Given the description of an element on the screen output the (x, y) to click on. 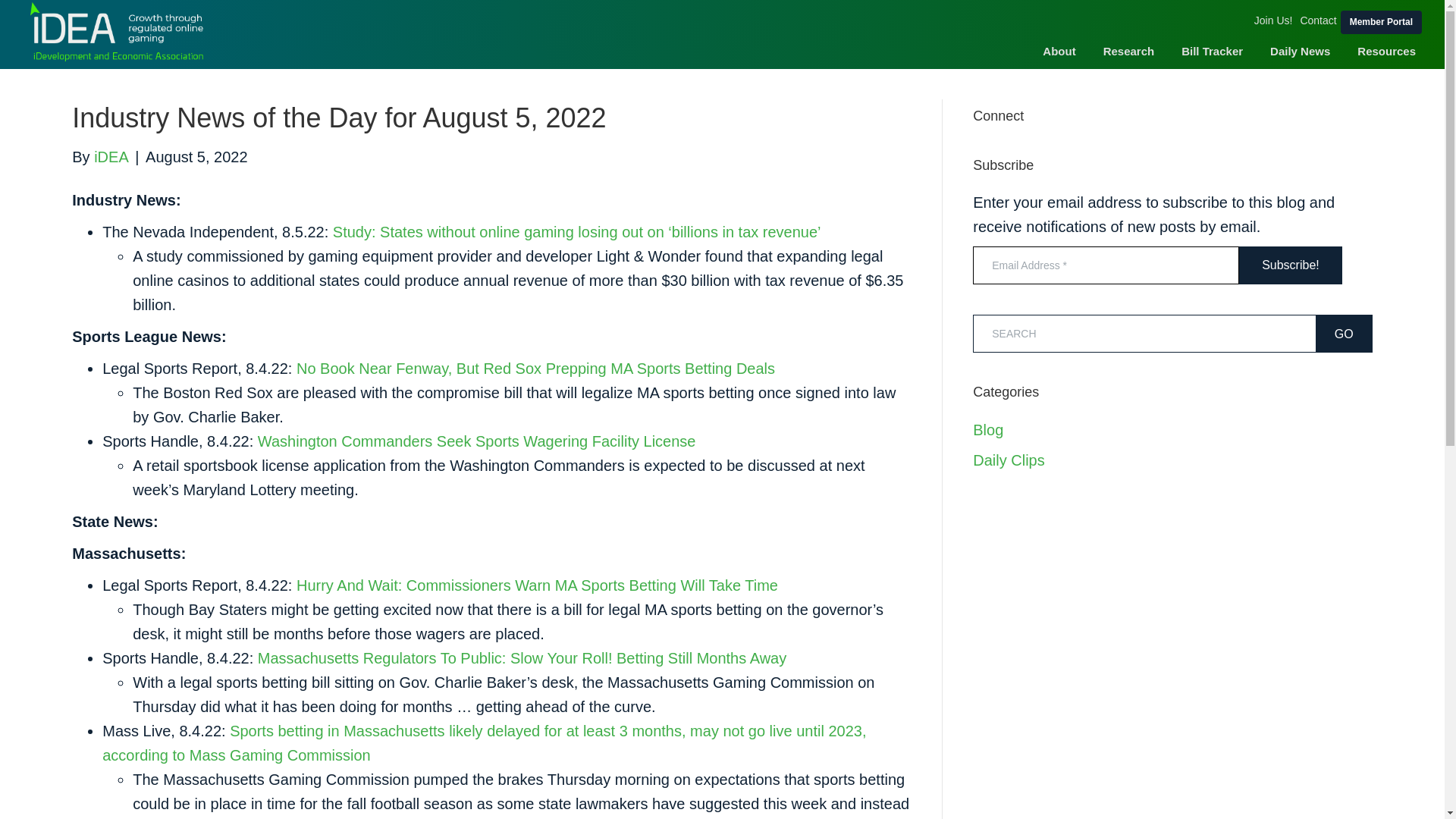
Contact (1317, 20)
Subscribe! (1290, 264)
Research (1129, 51)
Join Us! (1273, 20)
Member Portal (1381, 22)
GO (1344, 333)
About (1059, 51)
Email Address (1105, 265)
